Given the description of an element on the screen output the (x, y) to click on. 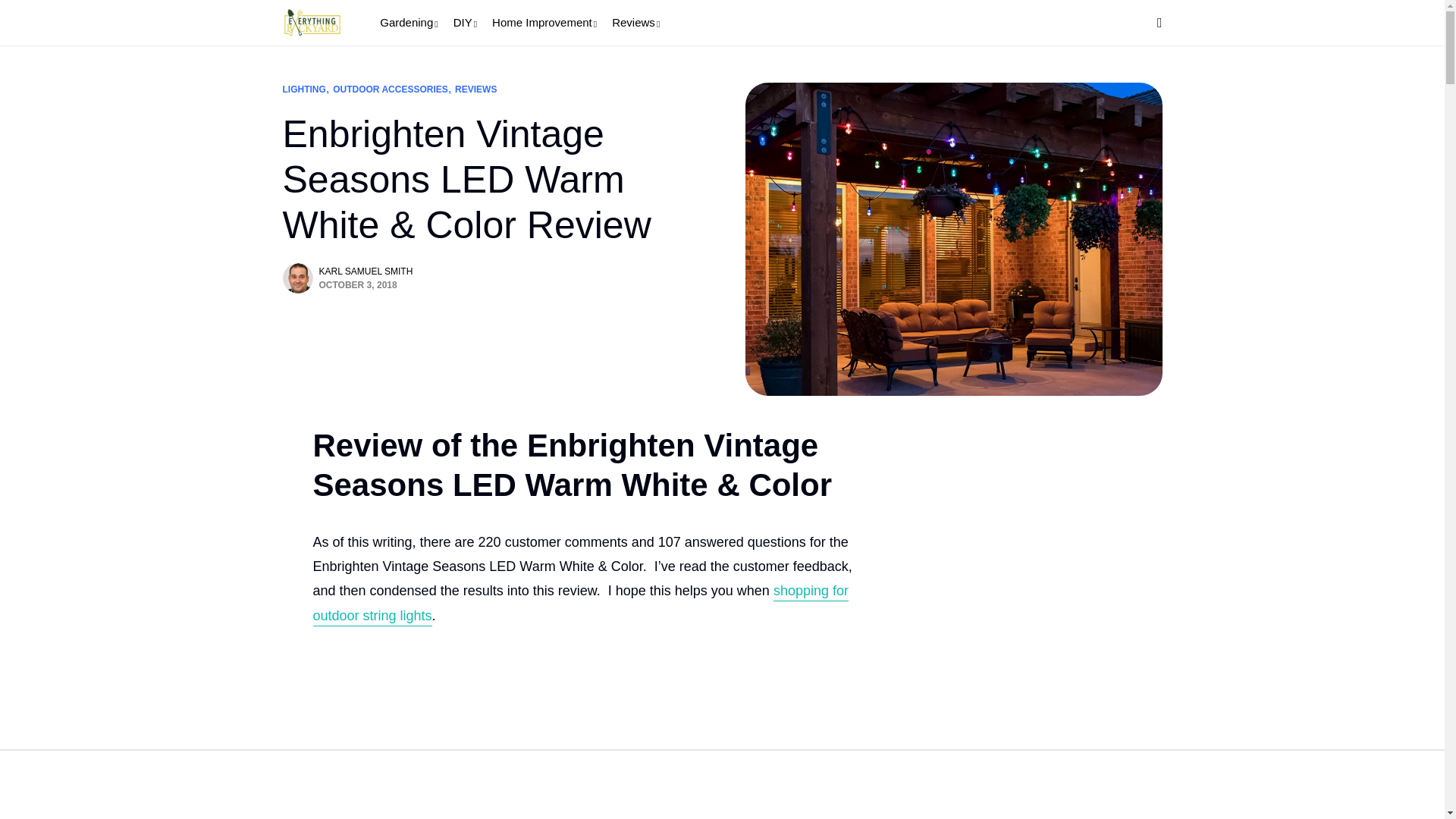
Reviews (635, 22)
Home Improvement (544, 22)
Gardening (409, 22)
